Given the description of an element on the screen output the (x, y) to click on. 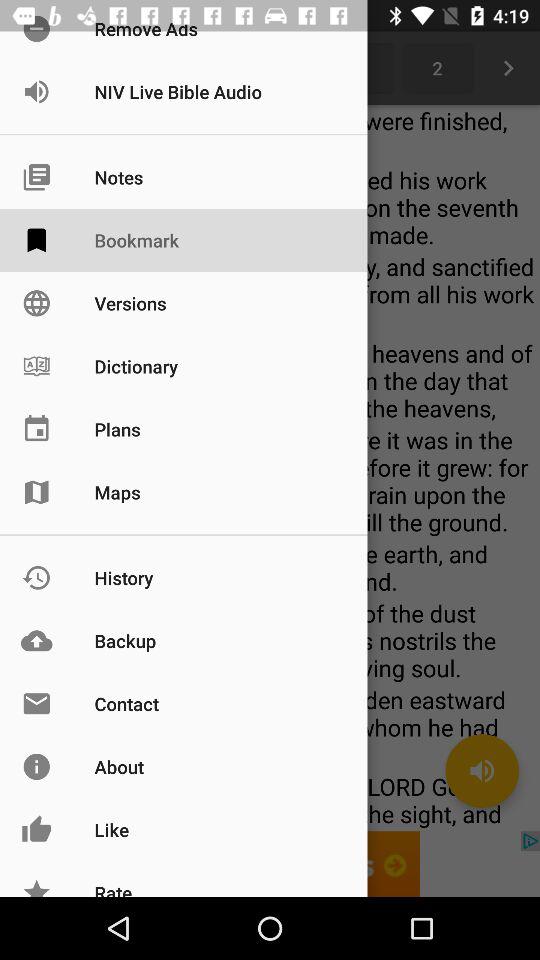
click on number 2 which is just beside the right arrow icon (436, 68)
